Given the description of an element on the screen output the (x, y) to click on. 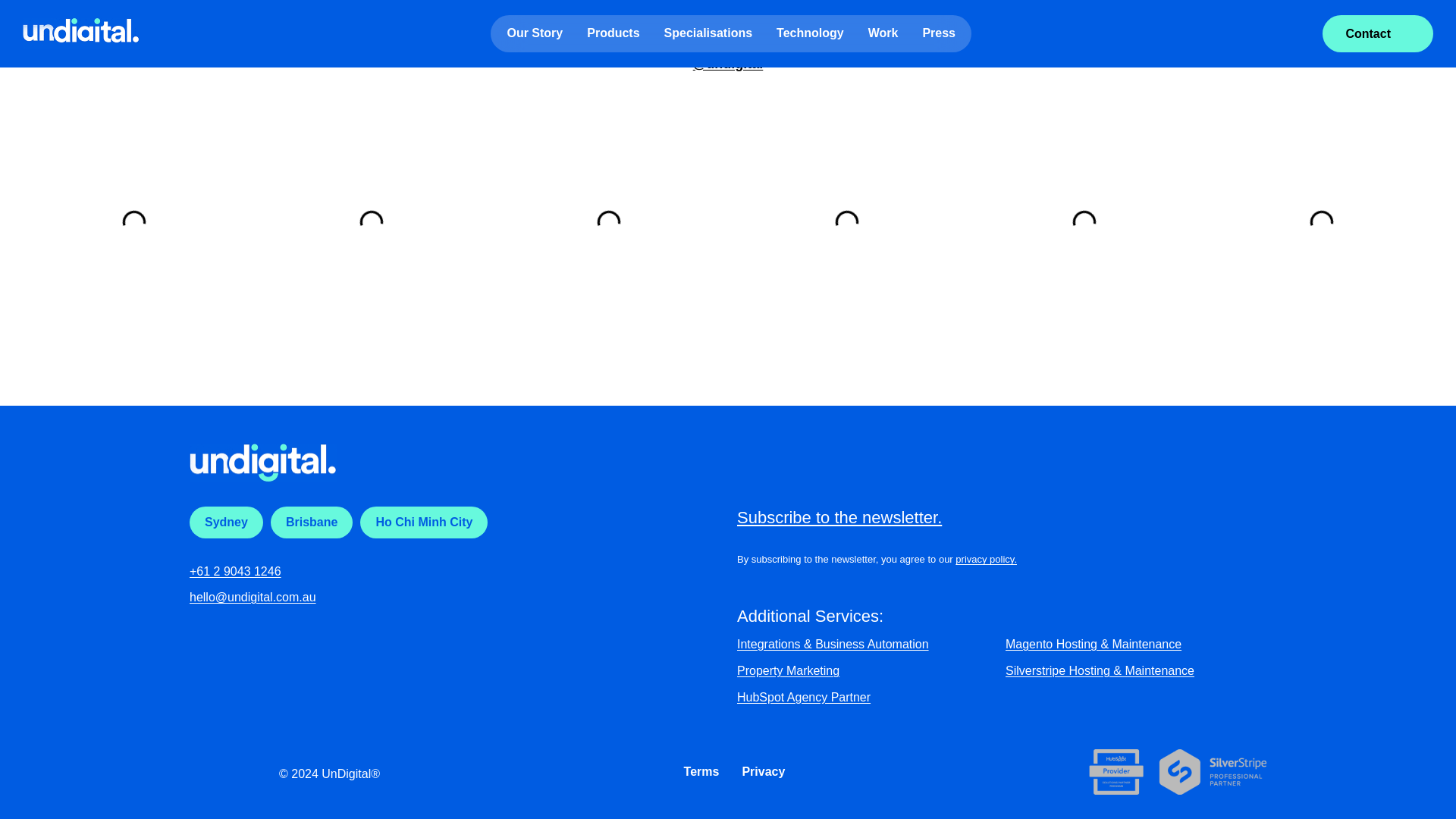
Privacy (762, 772)
HubSpot Agency Partner (866, 697)
Brisbane (311, 522)
Terms (701, 772)
privacy policy. (985, 559)
Property Marketing (866, 670)
Sydney (226, 522)
Subscribe to the newsletter. (839, 517)
Ho Chi Minh City (423, 522)
